Given the description of an element on the screen output the (x, y) to click on. 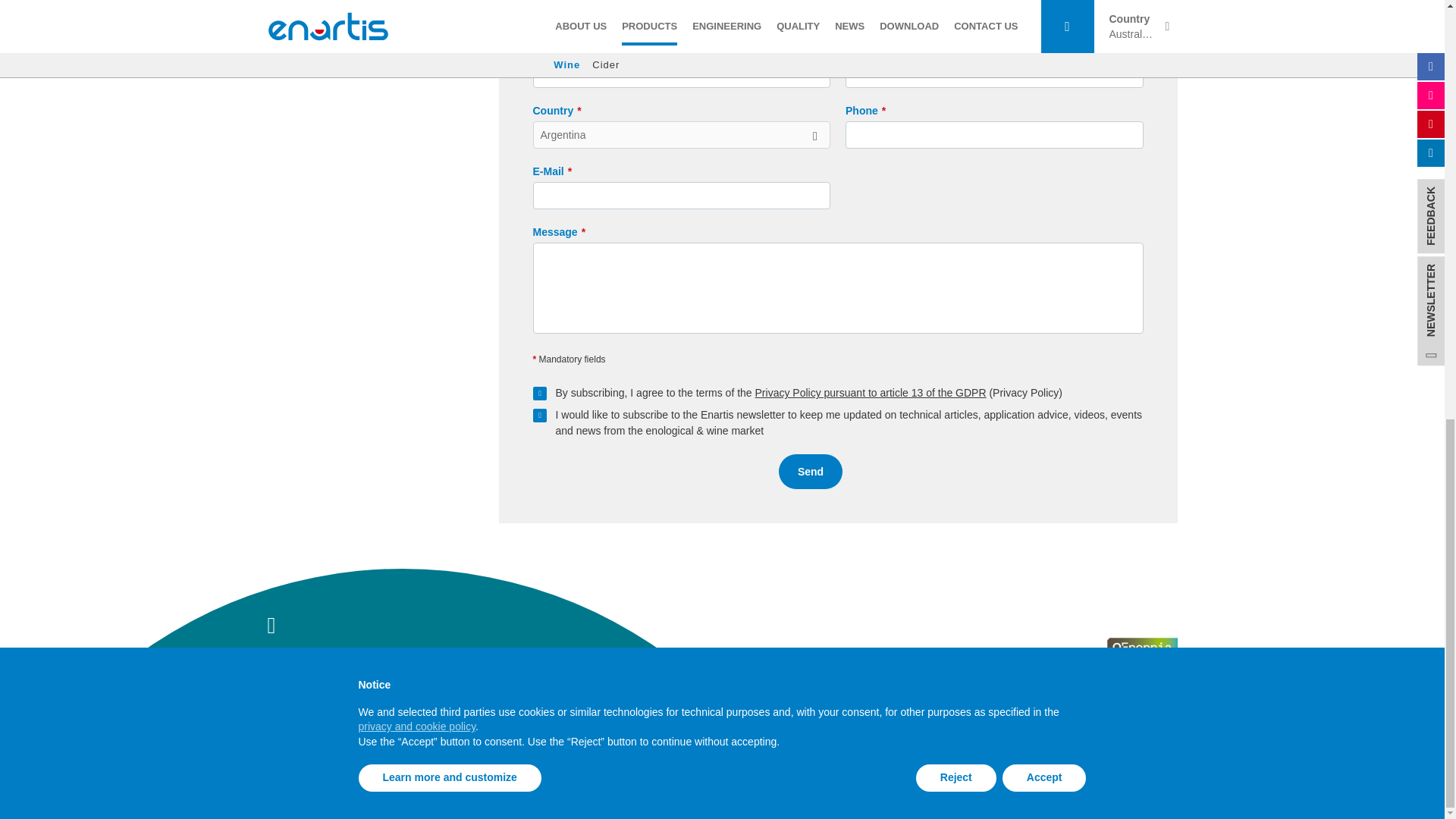
Send (810, 471)
